Given the description of an element on the screen output the (x, y) to click on. 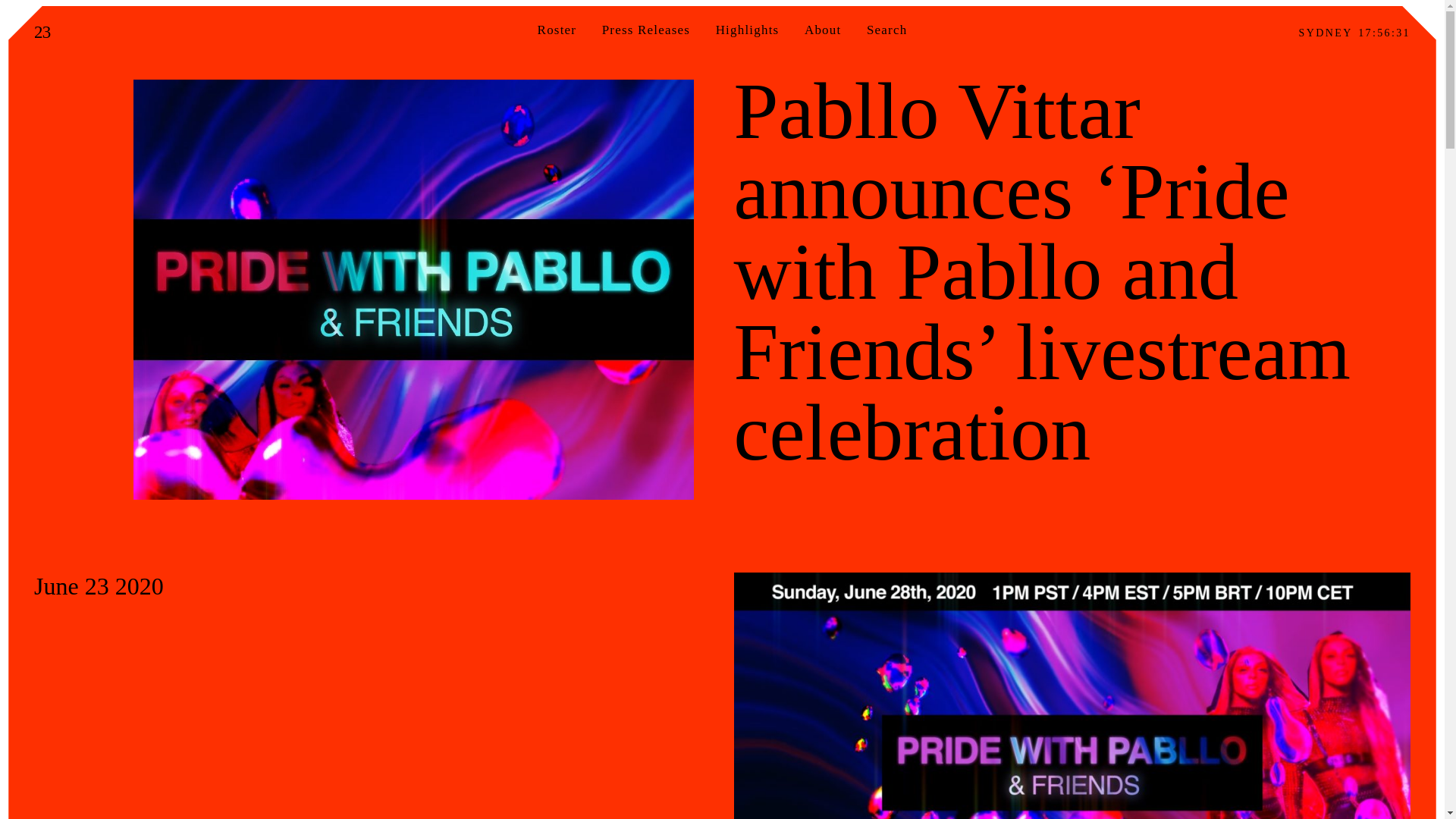
Search (886, 29)
Roster (556, 29)
23 (41, 31)
Highlights (747, 29)
About (823, 29)
Press Releases (646, 29)
Search (98, 6)
